Given the description of an element on the screen output the (x, y) to click on. 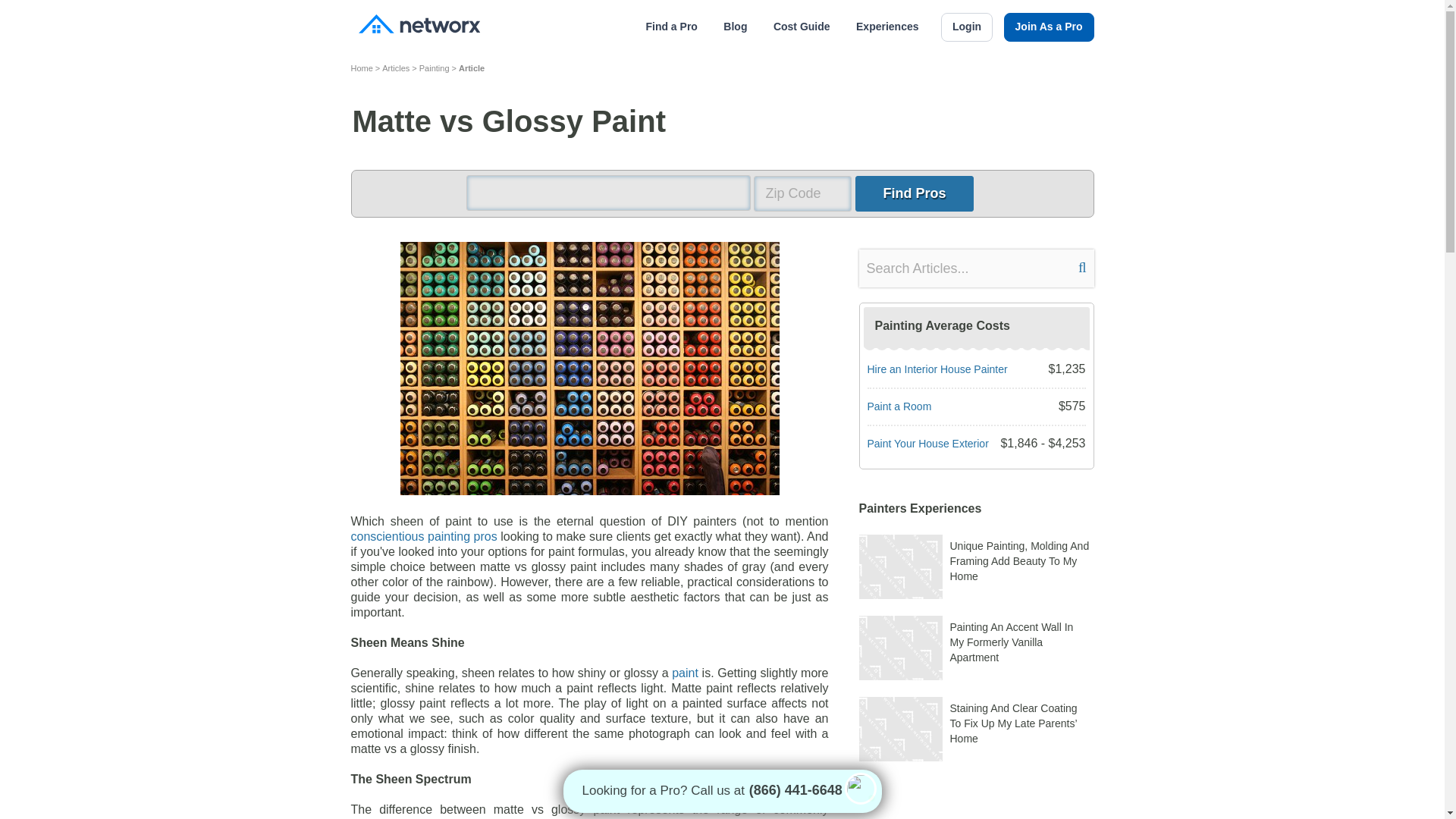
What type of pro are you looking for? (607, 192)
Networx (418, 25)
Home (361, 67)
Login (966, 27)
Experiences (887, 26)
Please enter a valid zip code (802, 193)
Articles (395, 67)
Painting (434, 67)
Find Pros (914, 193)
Find a Pro (670, 26)
Join As a Pro (1049, 27)
Find Pros (914, 193)
Cost Guide (801, 26)
